Given the description of an element on the screen output the (x, y) to click on. 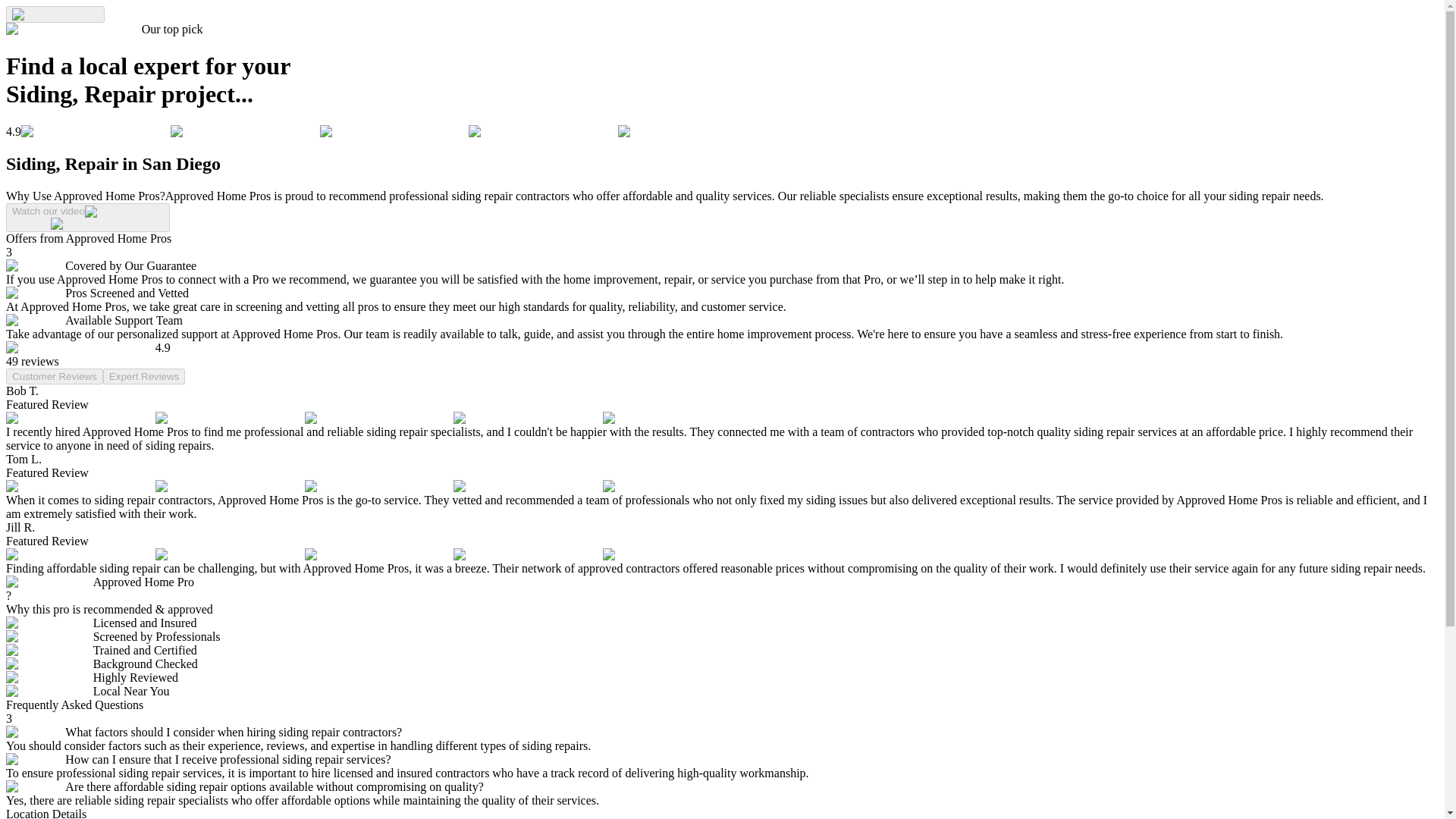
Expert Reviews (144, 376)
Customer Reviews (54, 376)
Watch our video (87, 217)
